Given the description of an element on the screen output the (x, y) to click on. 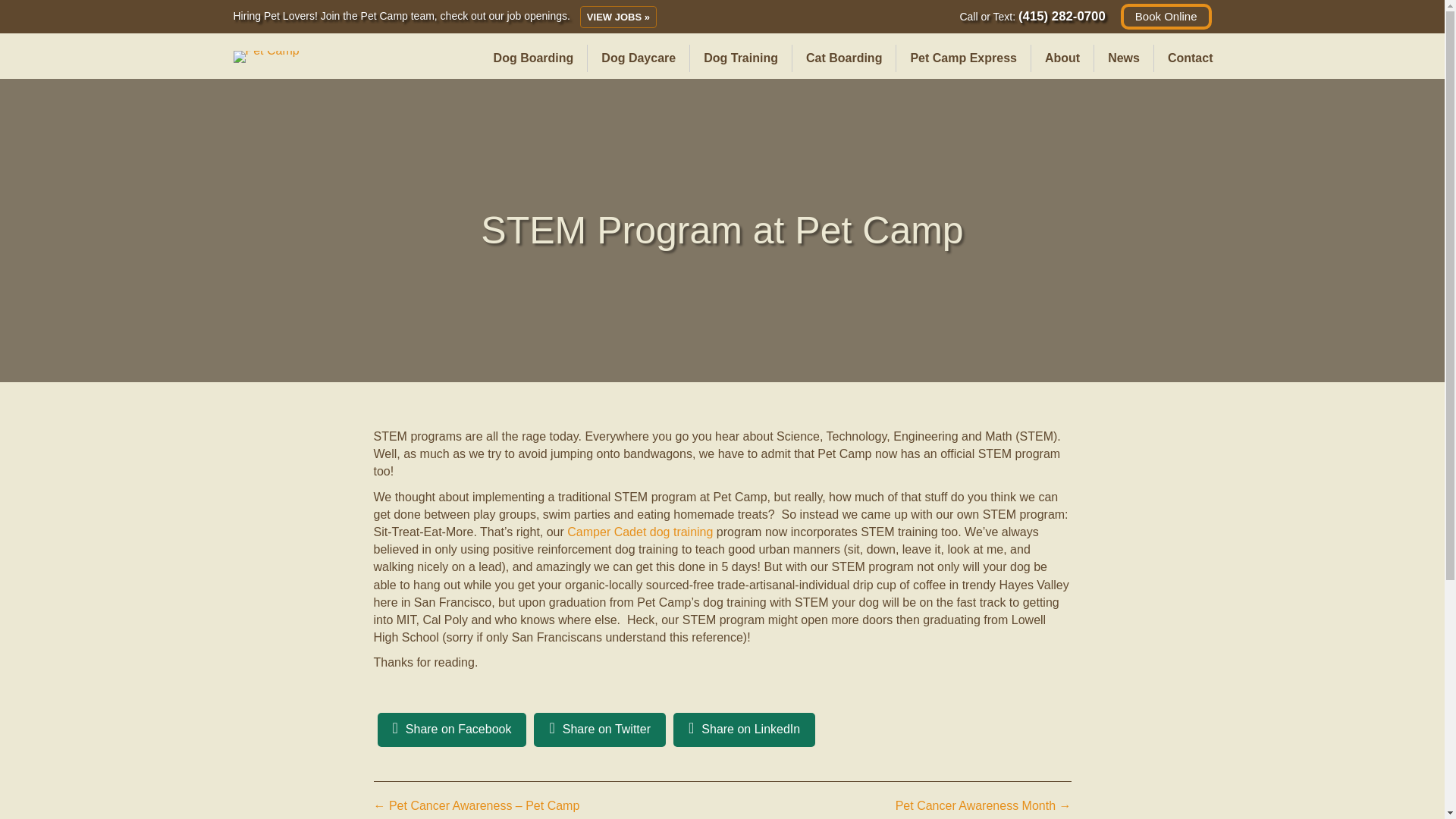
Contact (1190, 58)
Dog Boarding (534, 58)
Dog Training (741, 58)
Dog Daycare (638, 58)
News (1123, 58)
Pet Camp Express (963, 58)
About (1061, 58)
Pet-Camp-Logo (265, 55)
Cat Boarding (843, 58)
Book Online (1166, 16)
